Given the description of an element on the screen output the (x, y) to click on. 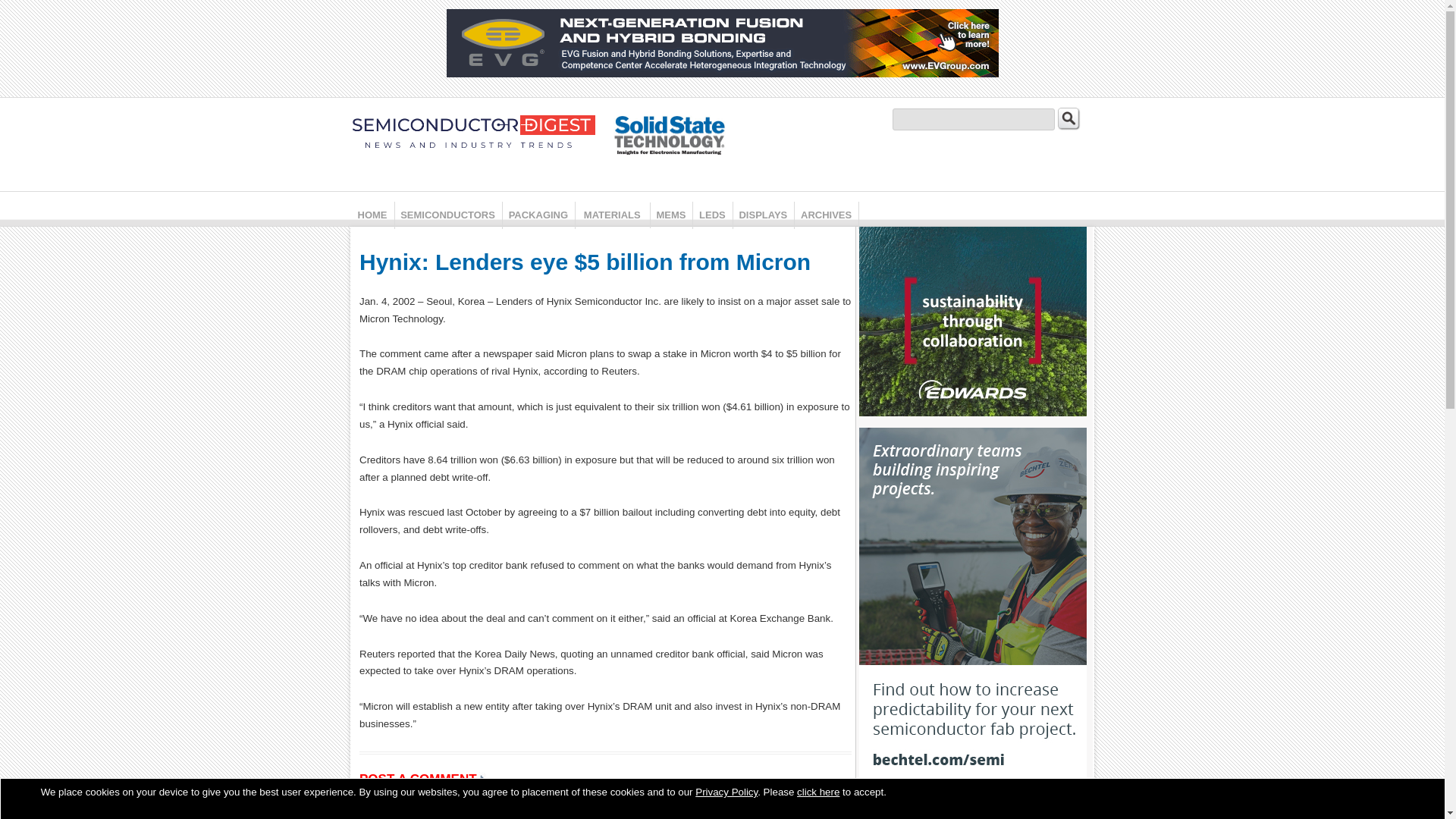
MATERIALS (612, 215)
DISPLAYS (762, 215)
HOME (371, 215)
LEDS (712, 215)
ARCHIVES (826, 215)
PACKAGING (538, 215)
MEMS (671, 215)
SEMICONDUCTORS (447, 215)
